Given the description of an element on the screen output the (x, y) to click on. 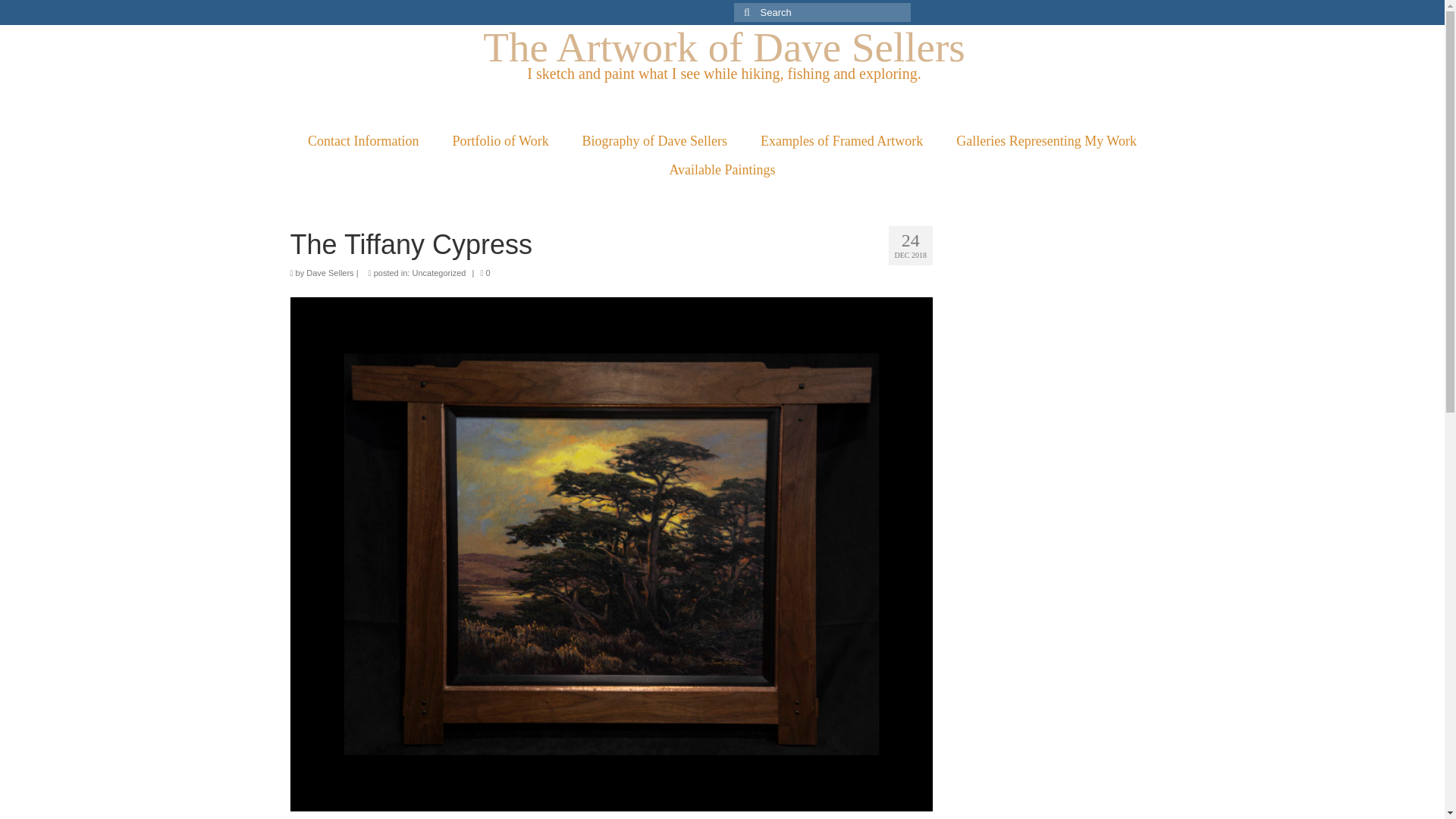
The Artwork of Dave Sellers (723, 47)
Portfolio of Work (499, 140)
Biography of Dave Sellers (654, 140)
Dave Sellers (329, 272)
Examples of Framed Artwork (841, 140)
Available Paintings (721, 169)
Uncategorized (438, 272)
Galleries Representing My Work (1045, 140)
Contact Information (362, 140)
